Given the description of an element on the screen output the (x, y) to click on. 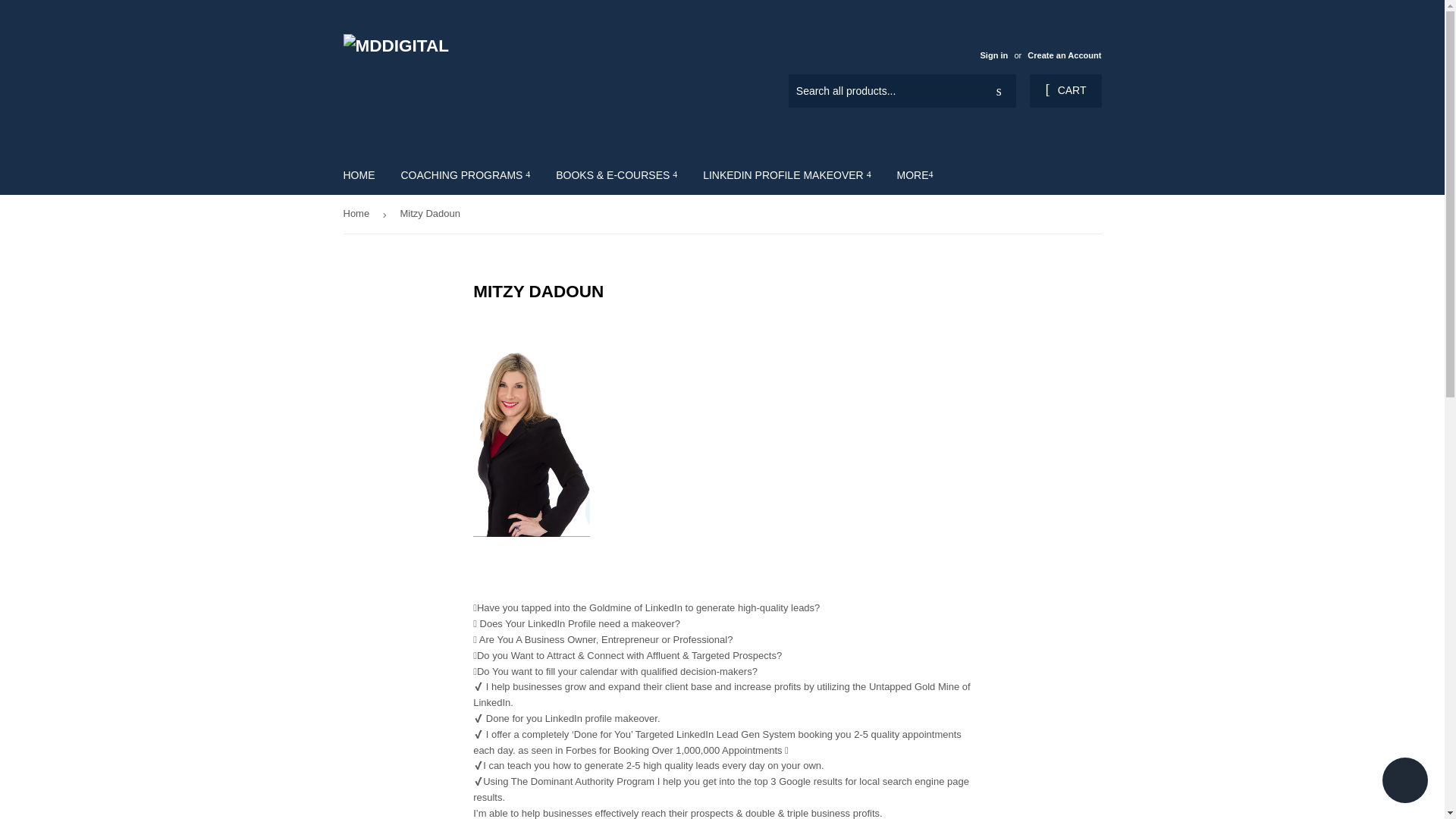
Shopify online store chat (1404, 781)
Sign in (993, 54)
HOME (359, 174)
Create an Account (1063, 54)
COACHING PROGRAMS (464, 174)
CART (1064, 90)
Search (998, 91)
Back to the frontpage (358, 213)
